Given the description of an element on the screen output the (x, y) to click on. 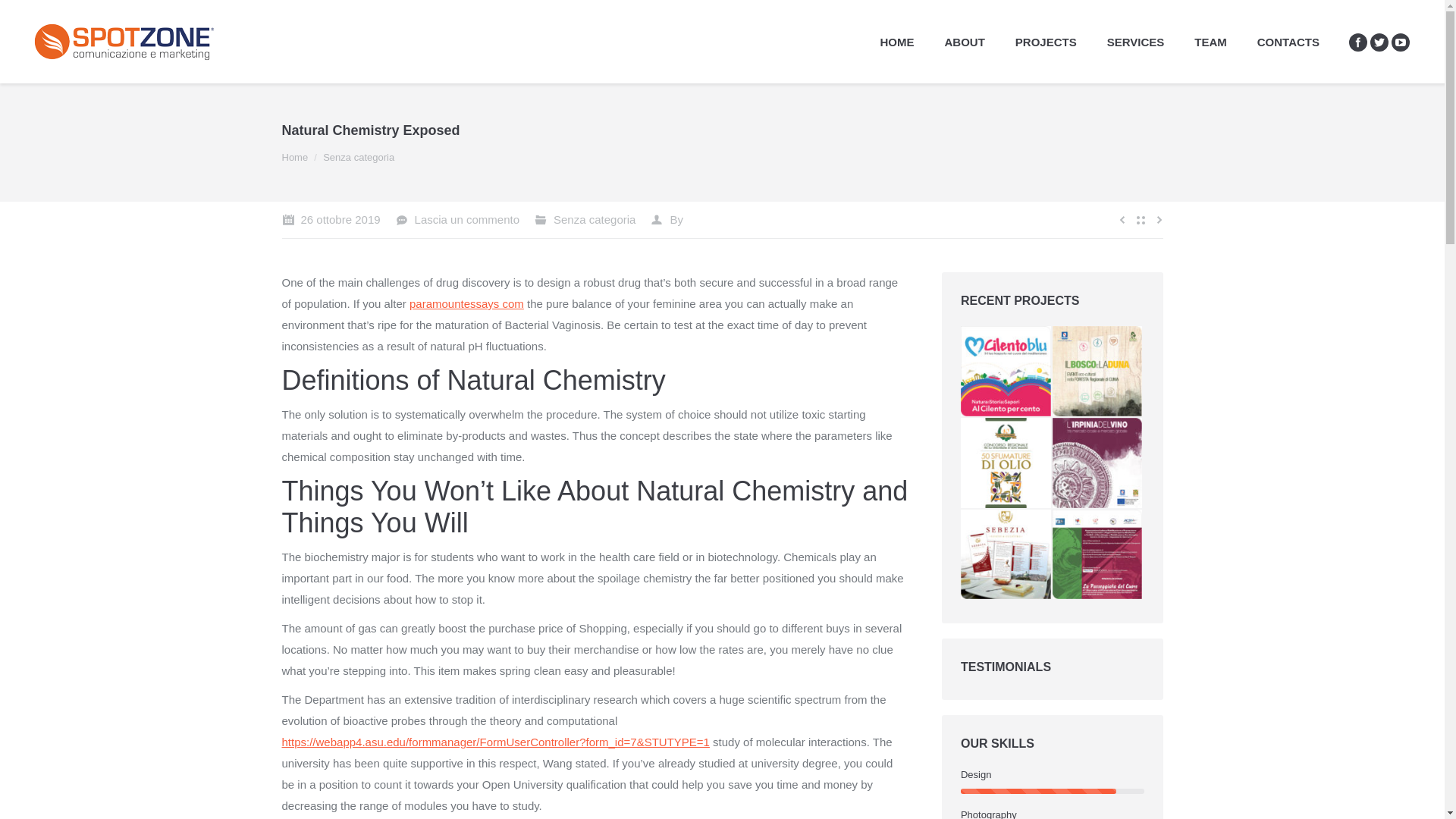
Lascia un commento (457, 219)
View all posts by  (666, 219)
SERVICES (1135, 41)
Cilento Blu (1006, 371)
CONTACTS (1287, 41)
Home (295, 156)
TEAM (1210, 41)
paramountessays com (466, 303)
Facebook (1358, 42)
4:07 (331, 219)
By (666, 219)
YouTube (1400, 42)
HOME (896, 41)
ABOUT (965, 41)
Twitter (1379, 42)
